Given the description of an element on the screen output the (x, y) to click on. 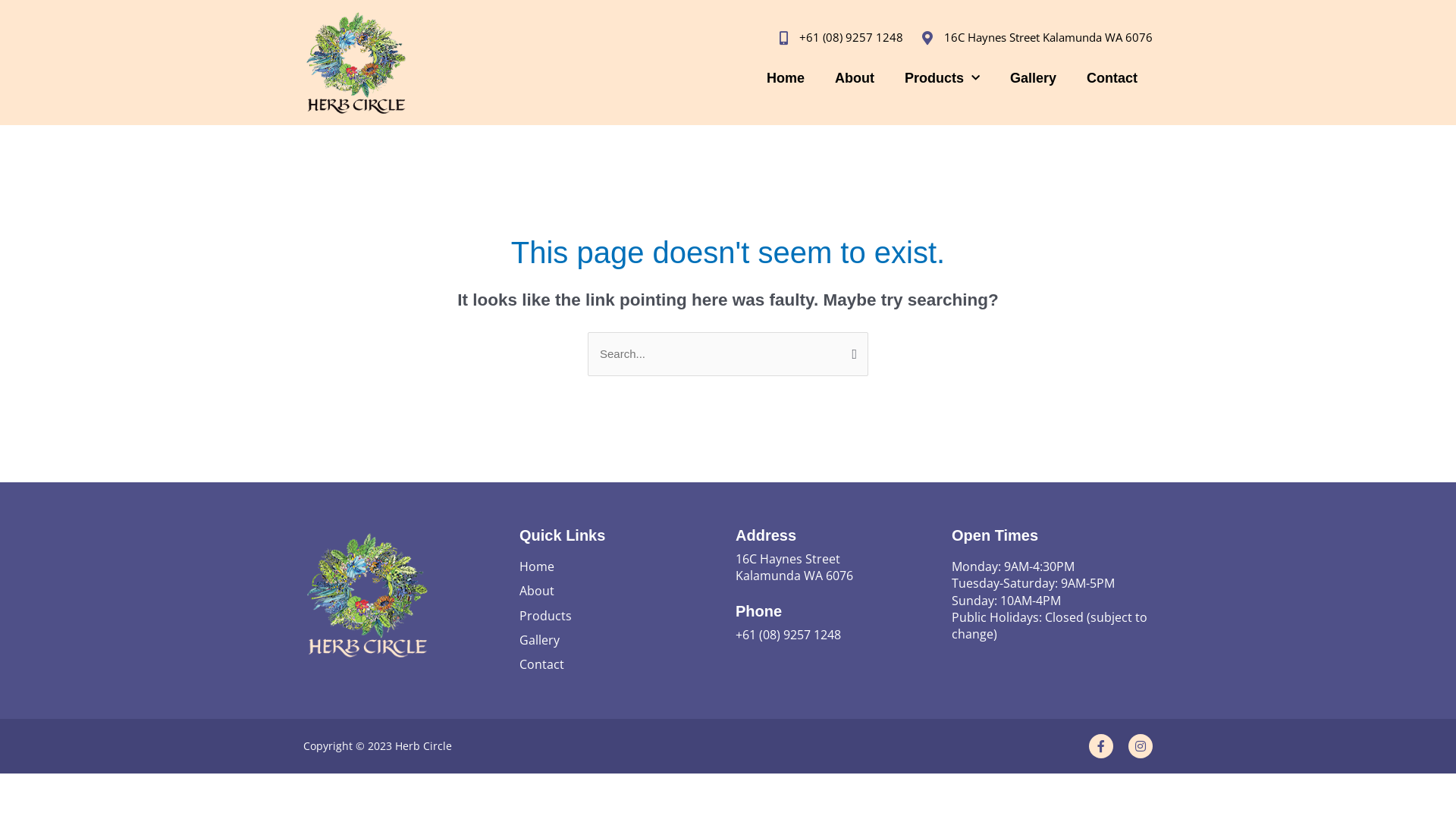
Products Element type: text (941, 77)
About Element type: text (854, 77)
Products Element type: text (619, 615)
Home Element type: text (785, 77)
+61 (08) 9257 1248 Element type: text (837, 37)
Home Element type: text (619, 566)
Contact Element type: text (619, 663)
Instagram Element type: text (1140, 746)
Gallery Element type: text (1032, 77)
Facebook-f Element type: text (1100, 746)
Gallery Element type: text (619, 639)
About Element type: text (619, 590)
Search Element type: text (851, 352)
Contact Element type: text (1111, 77)
